Given the description of an element on the screen output the (x, y) to click on. 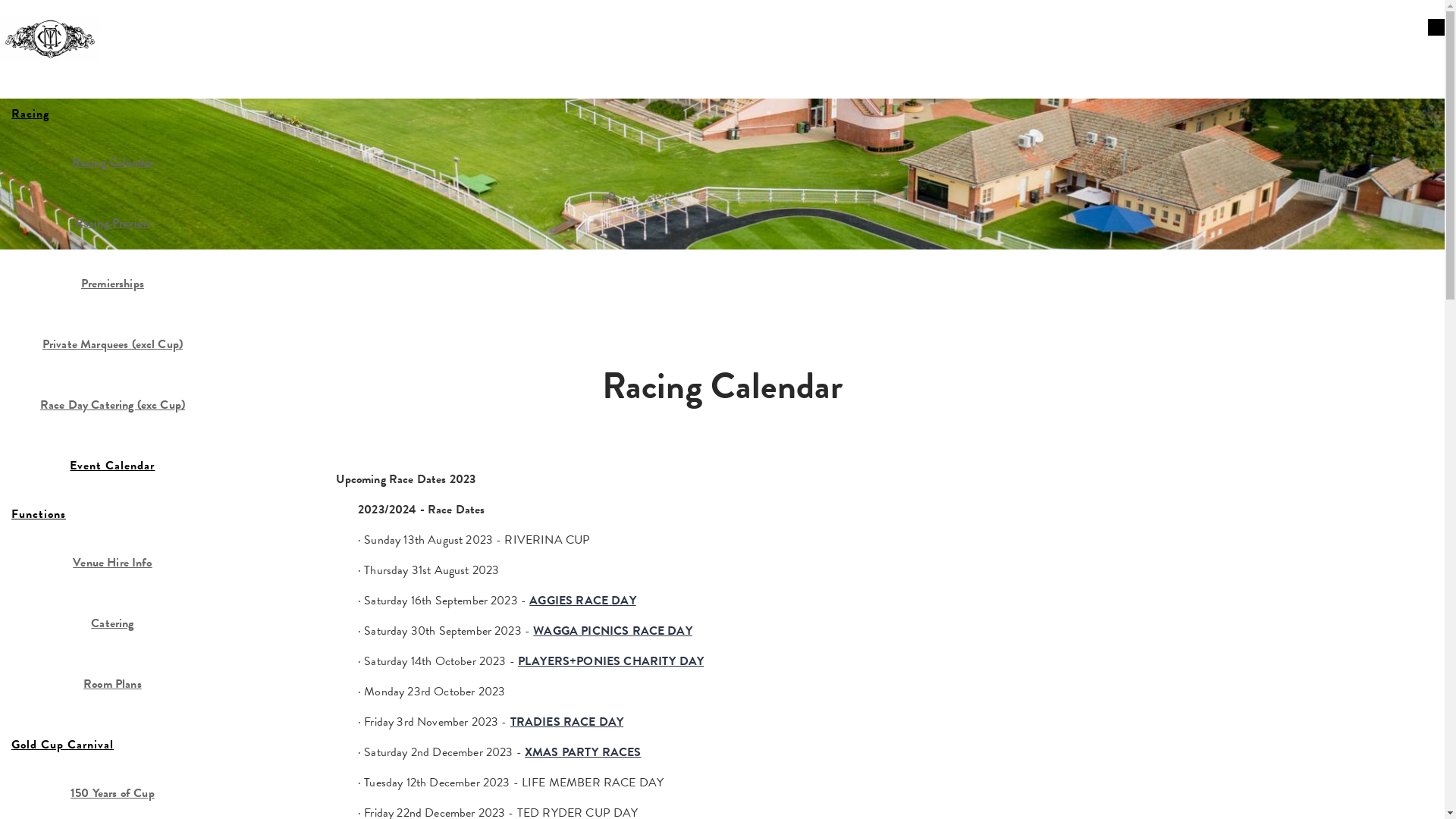
TRADIES RACE DAY Element type: text (567, 721)
150 Years of Cup Element type: text (112, 792)
Functions Element type: text (112, 513)
Home Element type: hover (50, 30)
Racing Preview Element type: text (112, 222)
Private Marquees (excl Cup) Element type: text (112, 343)
PLAYERS+PONIES CHARITY DAY Element type: text (610, 661)
Race Day Catering (exc Cup) Element type: text (112, 404)
AGGIES RACE DAY Element type: text (582, 600)
Venue Hire Info Element type: text (112, 562)
Room Plans Element type: text (112, 683)
Toggle navigation Element type: text (1435, 26)
Premierships Element type: text (112, 283)
Gold Cup Carnival Element type: text (112, 744)
WAGGA PICNICS RACE DAY Element type: text (612, 630)
Racing Element type: text (112, 113)
Catering Element type: text (111, 623)
Skip to main content Element type: text (51, 0)
Racing Calendar Element type: text (112, 161)
XMAS PARTY RACES Element type: text (582, 752)
Event Calendar Element type: text (112, 465)
